Given the description of an element on the screen output the (x, y) to click on. 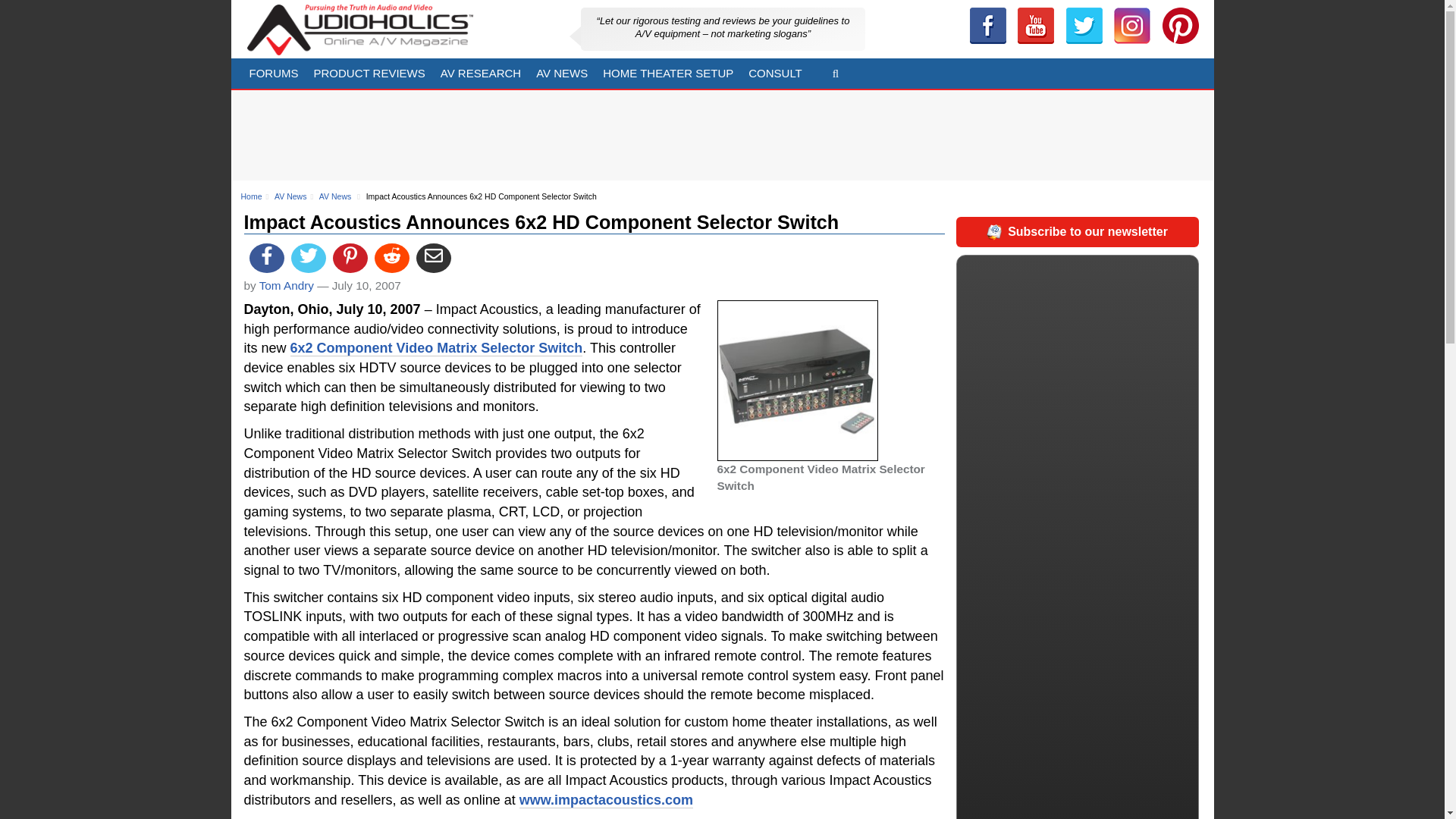
share on twitter (308, 257)
6x2 Component Video Matrix Selector Switch (797, 380)
instagram (1132, 25)
email (433, 257)
AV RESEARCH (480, 73)
3rd party ad content (574, 135)
PRODUCT REVIEWS (368, 73)
Twitter (1083, 25)
share on facebook (265, 257)
3rd party ad content (1065, 132)
